Given the description of an element on the screen output the (x, y) to click on. 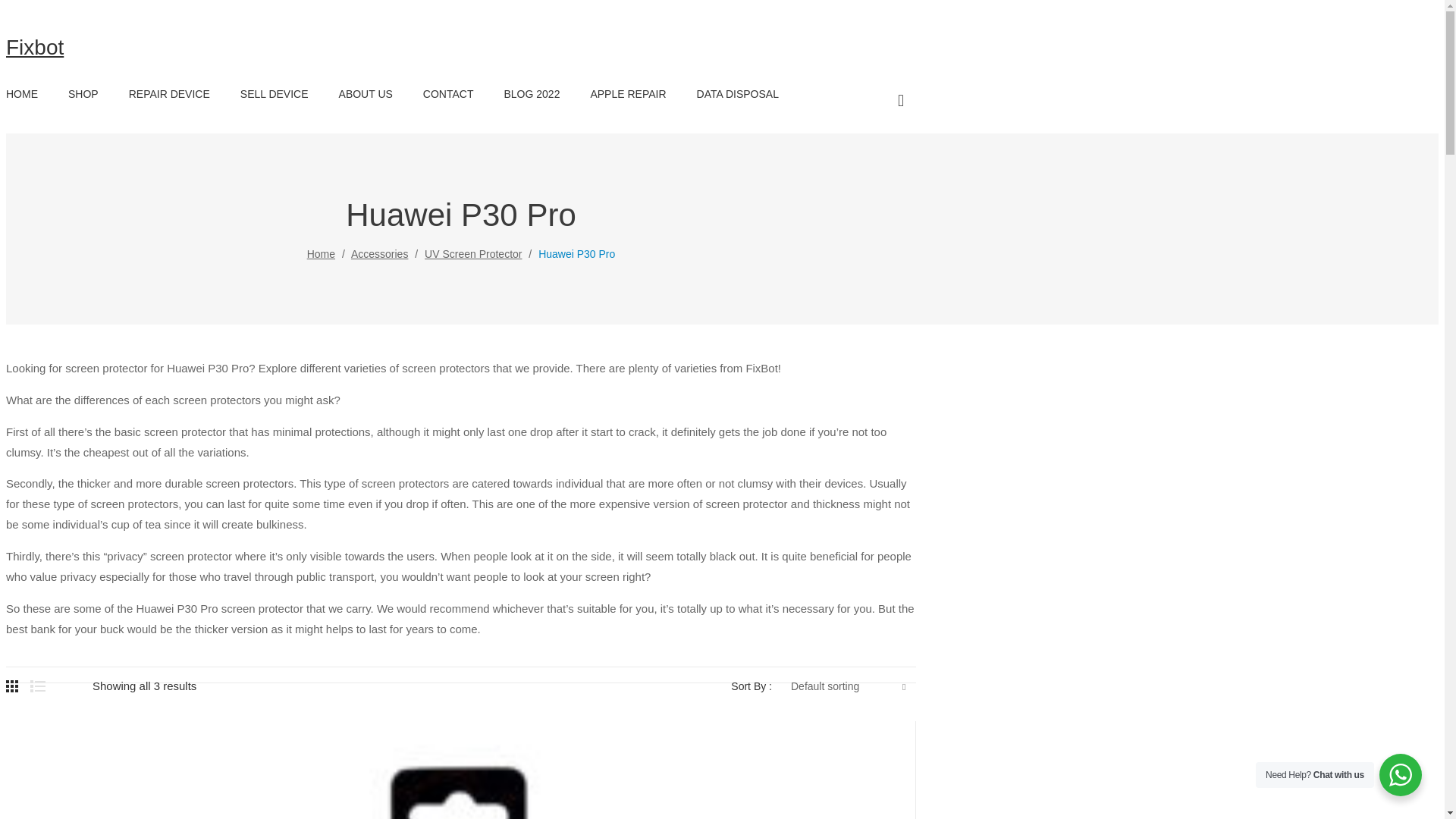
Home (320, 254)
Accessories (378, 254)
ABOUT US (366, 94)
UV Screen Protector (473, 254)
APPLE REPAIR (627, 94)
Fixbot (34, 47)
Default sorting (846, 685)
SELL DEVICE (274, 94)
DATA DISPOSAL (737, 94)
BLOG 2022 (531, 94)
REPAIR DEVICE (169, 94)
CONTACT (448, 94)
Fixbot (34, 47)
